Given the description of an element on the screen output the (x, y) to click on. 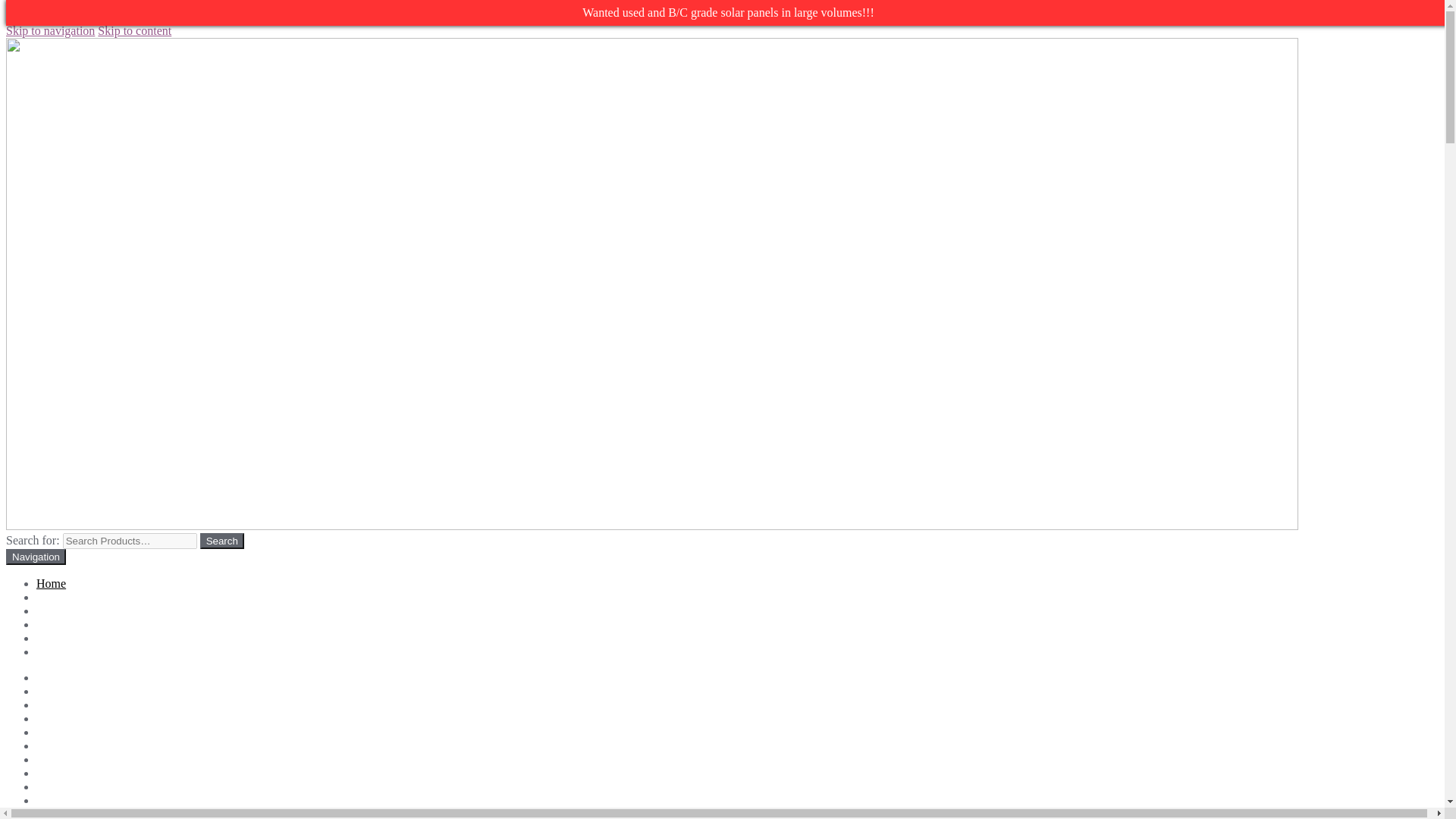
My Account (66, 772)
Testimonials (67, 813)
Latest News (66, 745)
Skip to navigation (49, 30)
Home (50, 676)
Shop (48, 596)
Search (222, 540)
Mis-sold Solar Panels (89, 624)
Search (222, 540)
Testimonials (67, 637)
Basket (52, 704)
About us (58, 690)
Contact us (61, 731)
Mis-sold Solar Panels (89, 758)
Home (50, 583)
